Given the description of an element on the screen output the (x, y) to click on. 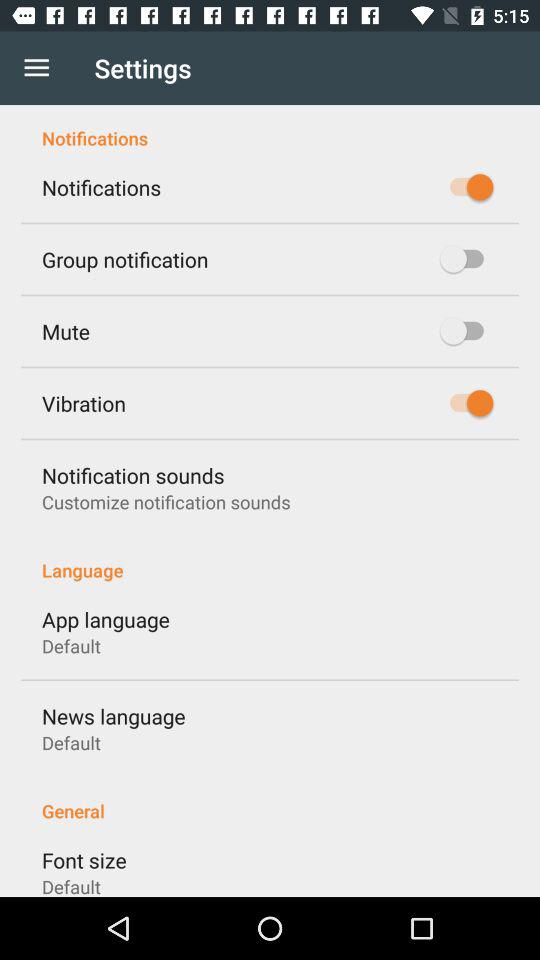
press the item above the default icon (84, 860)
